Given the description of an element on the screen output the (x, y) to click on. 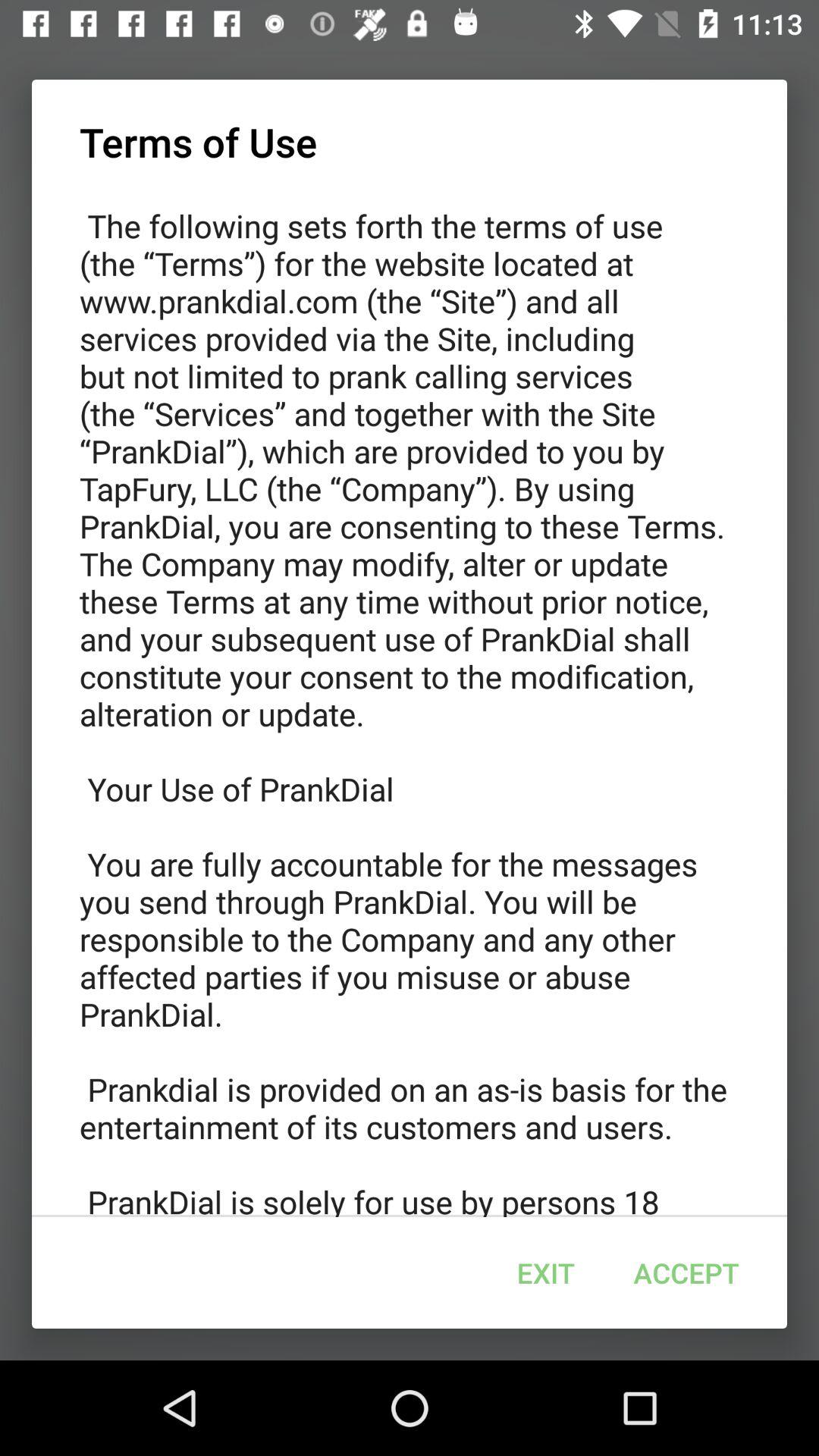
tap the item next to the accept item (545, 1272)
